Given the description of an element on the screen output the (x, y) to click on. 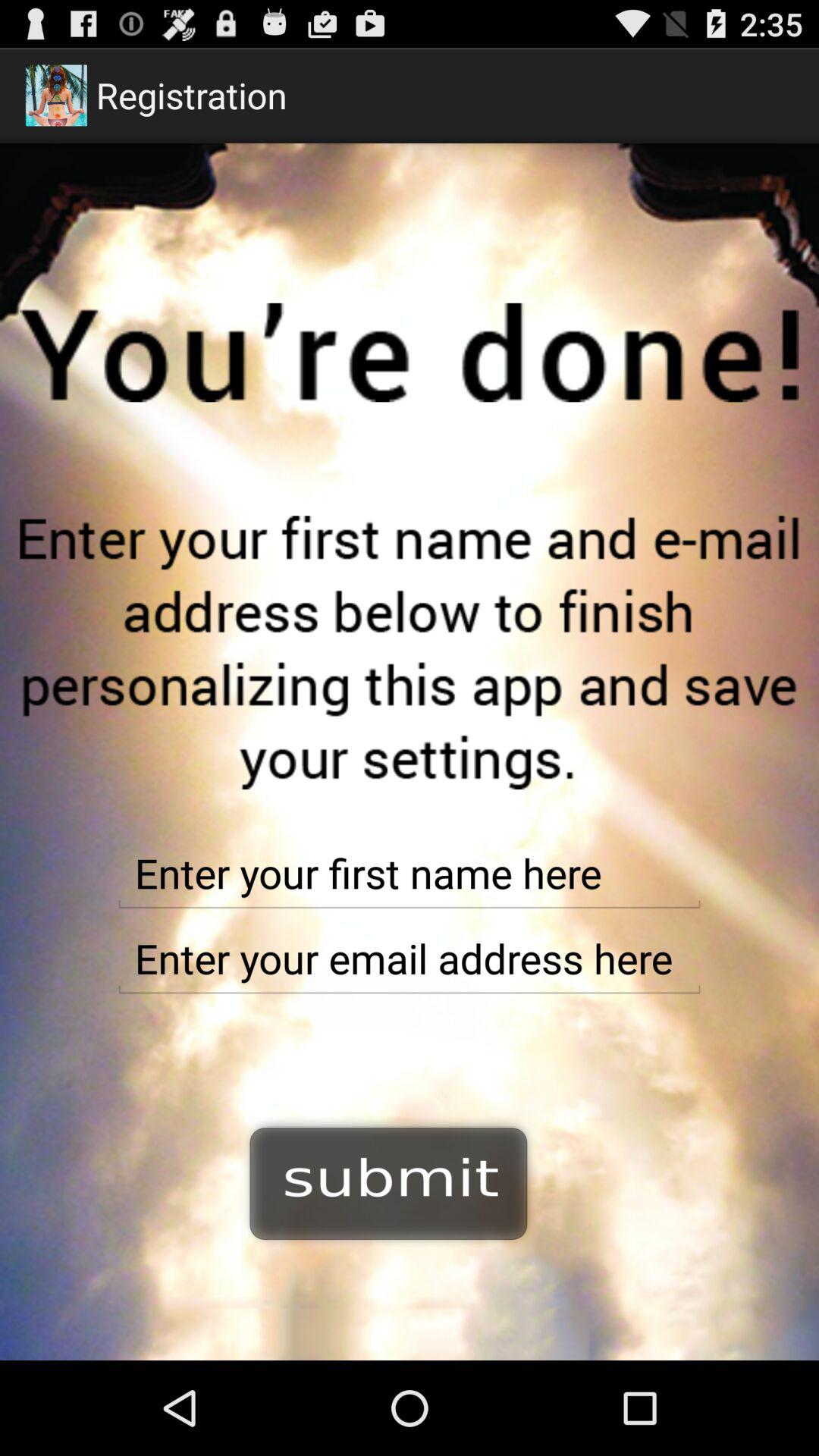
select option (389, 1181)
